Given the description of an element on the screen output the (x, y) to click on. 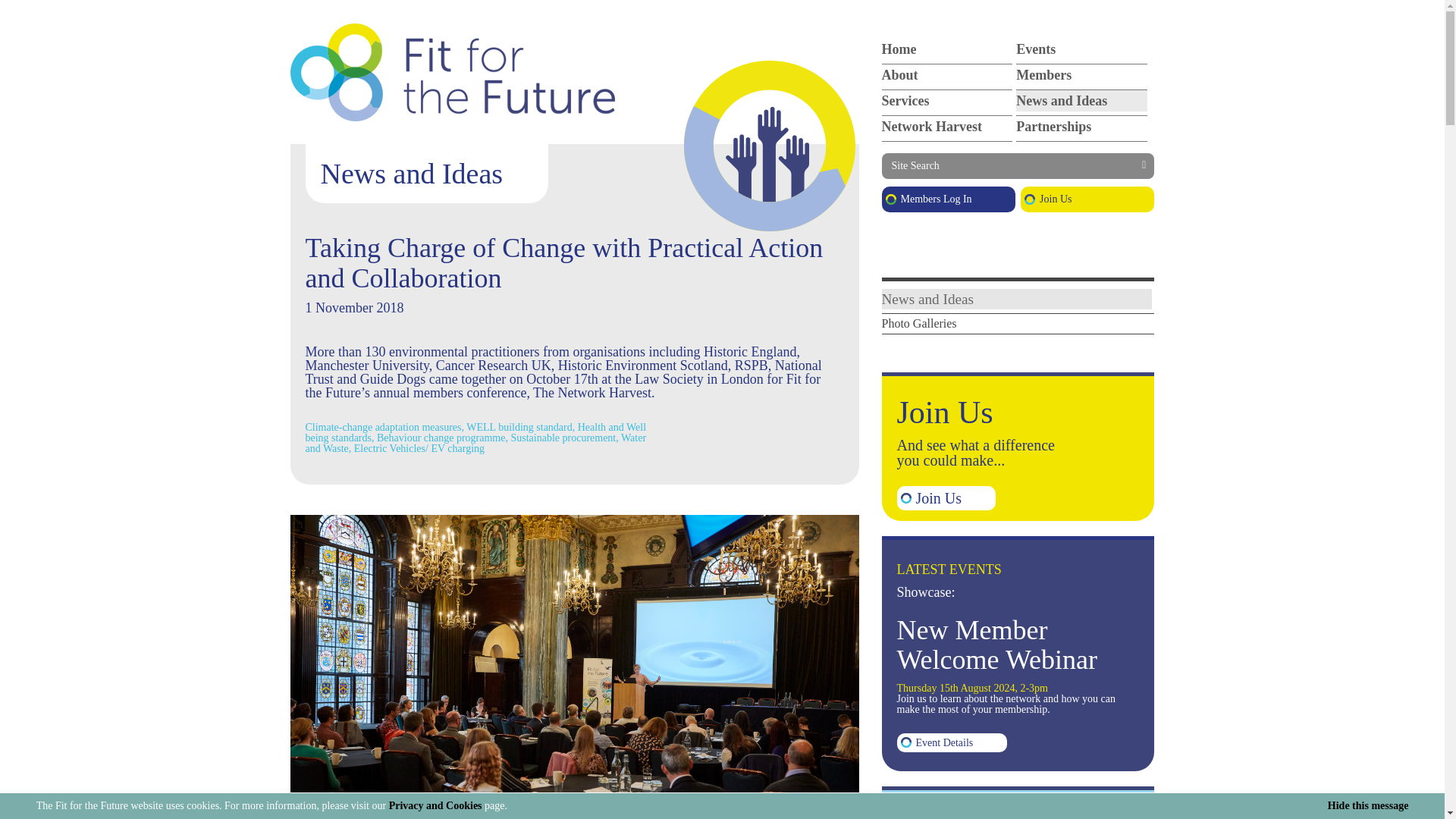
Home (945, 48)
Join Us (945, 498)
Photo Galleries (918, 323)
Members (1081, 74)
Event Details (951, 742)
Members Log In (947, 199)
Hide this message (1368, 805)
Partnerships (1081, 126)
Site Search (1017, 166)
About (945, 74)
